Given the description of an element on the screen output the (x, y) to click on. 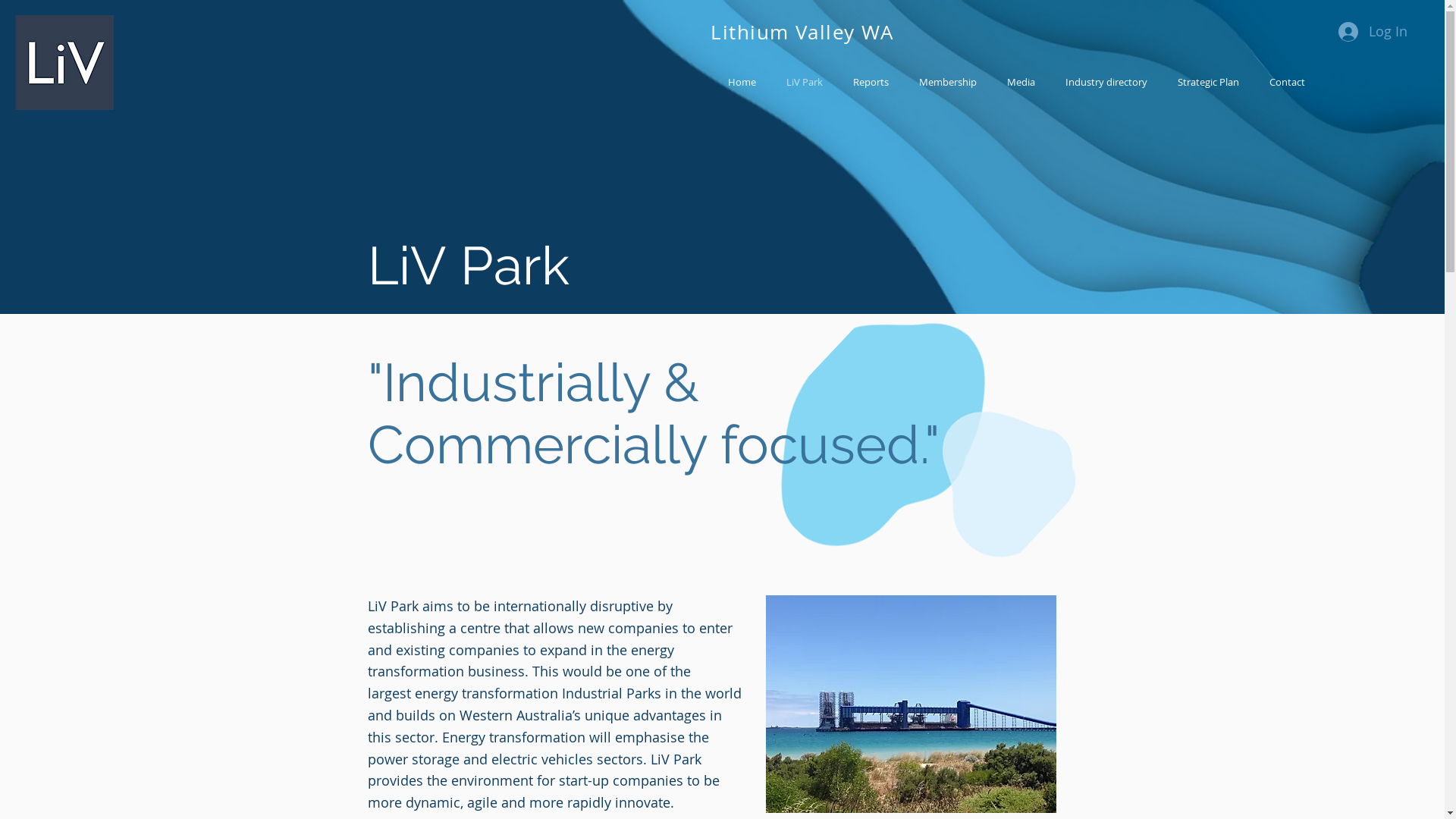
Media Element type: text (1020, 81)
Home Element type: text (741, 81)
Log In Element type: text (1372, 31)
Contact Element type: text (1287, 81)
LiV Park Element type: text (804, 81)
Reports Element type: text (870, 81)
Strategic Plan Element type: text (1208, 81)
IMG_1536.jpeg Element type: hover (910, 703)
Industry directory Element type: text (1106, 81)
Membership Element type: text (947, 81)
Lithium Valley WA Element type: text (802, 31)
